Given the description of an element on the screen output the (x, y) to click on. 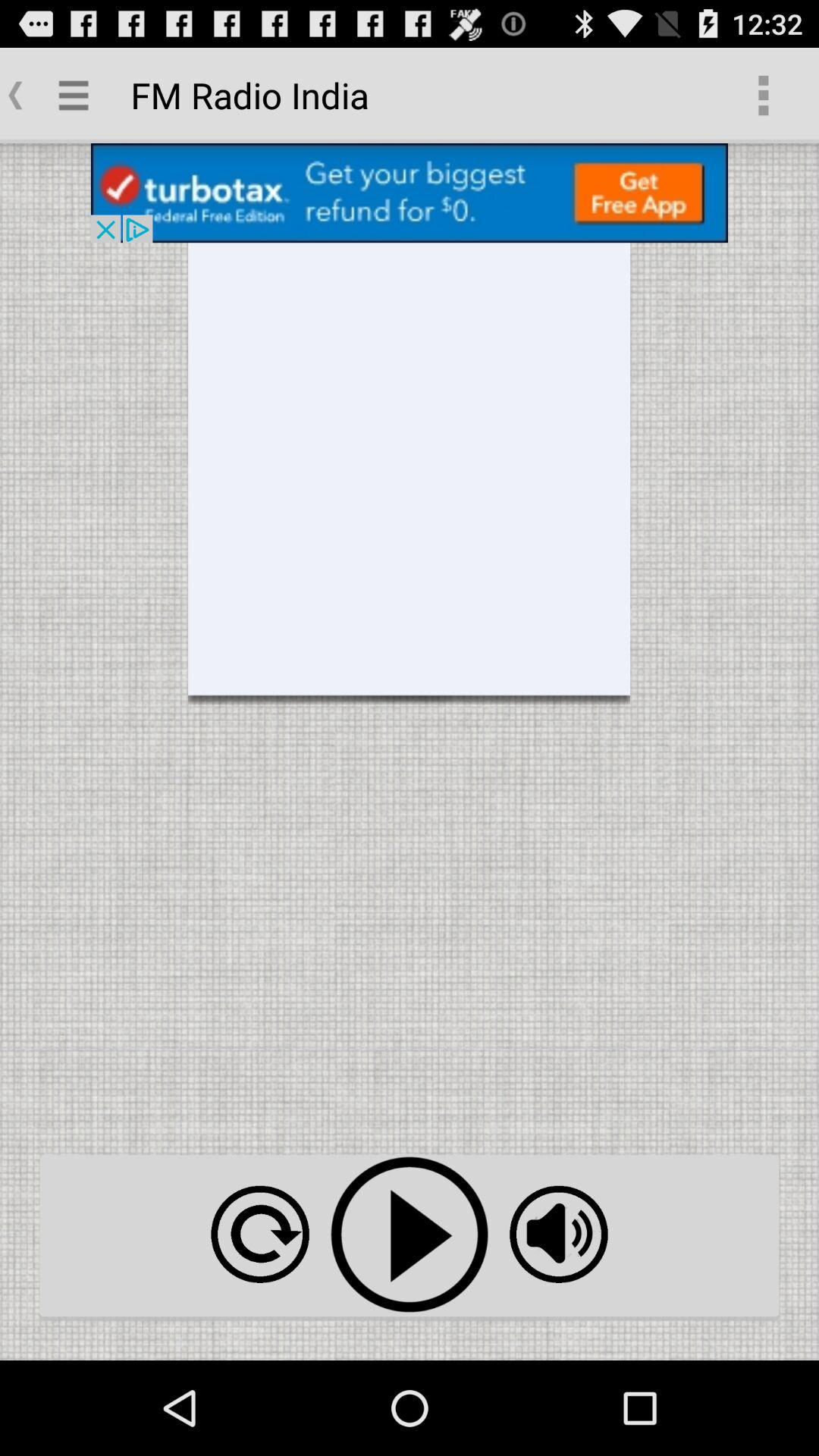
play video (409, 1234)
